Given the description of an element on the screen output the (x, y) to click on. 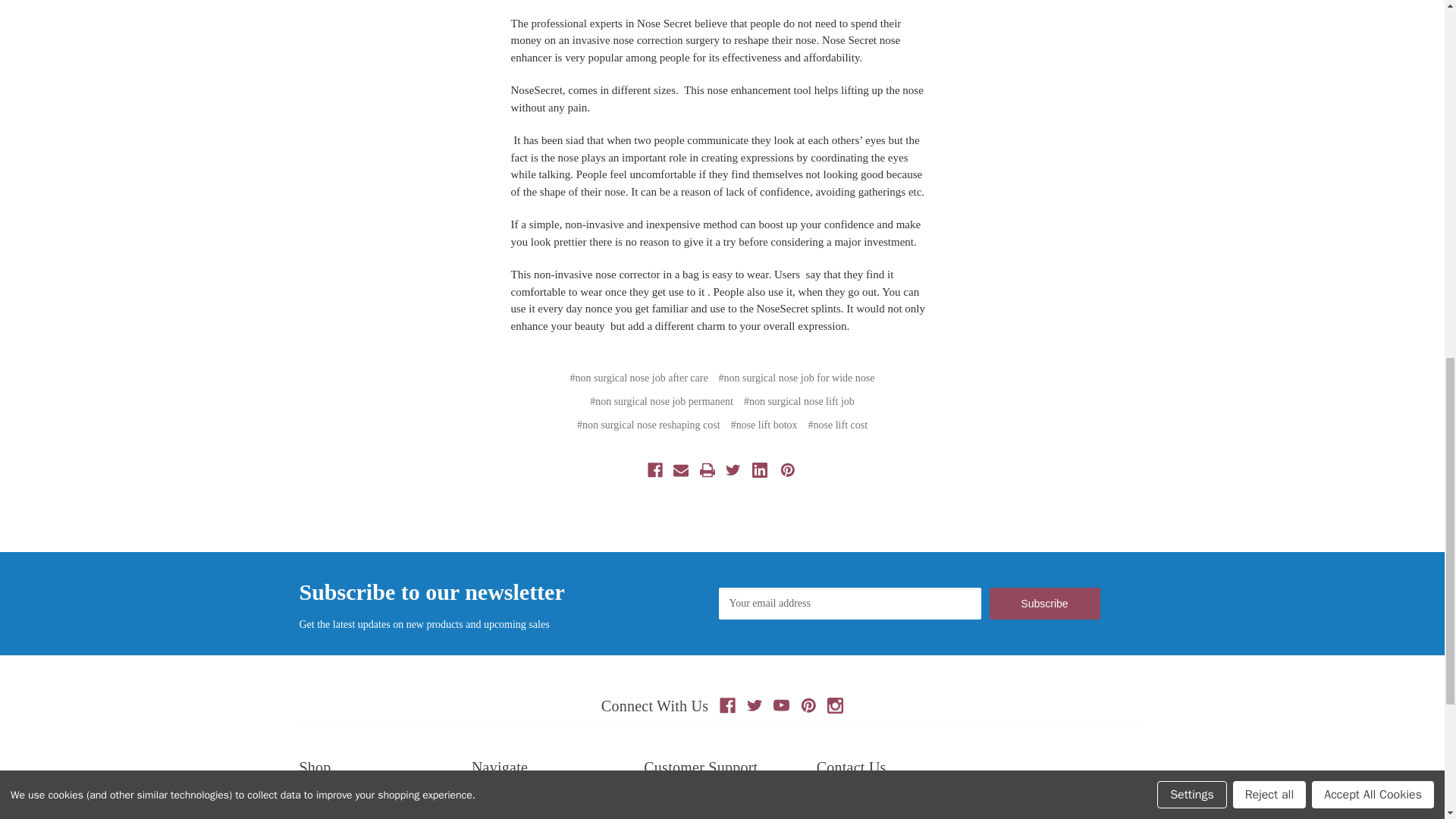
Print (707, 469)
Facebook (727, 705)
Pinterest (787, 469)
Twitter (733, 469)
Subscribe (1043, 603)
Linkedin (759, 469)
Email (680, 469)
Youtube (781, 705)
Pinterest (808, 705)
Twitter (754, 705)
Instagram (835, 705)
Facebook (654, 469)
